Given the description of an element on the screen output the (x, y) to click on. 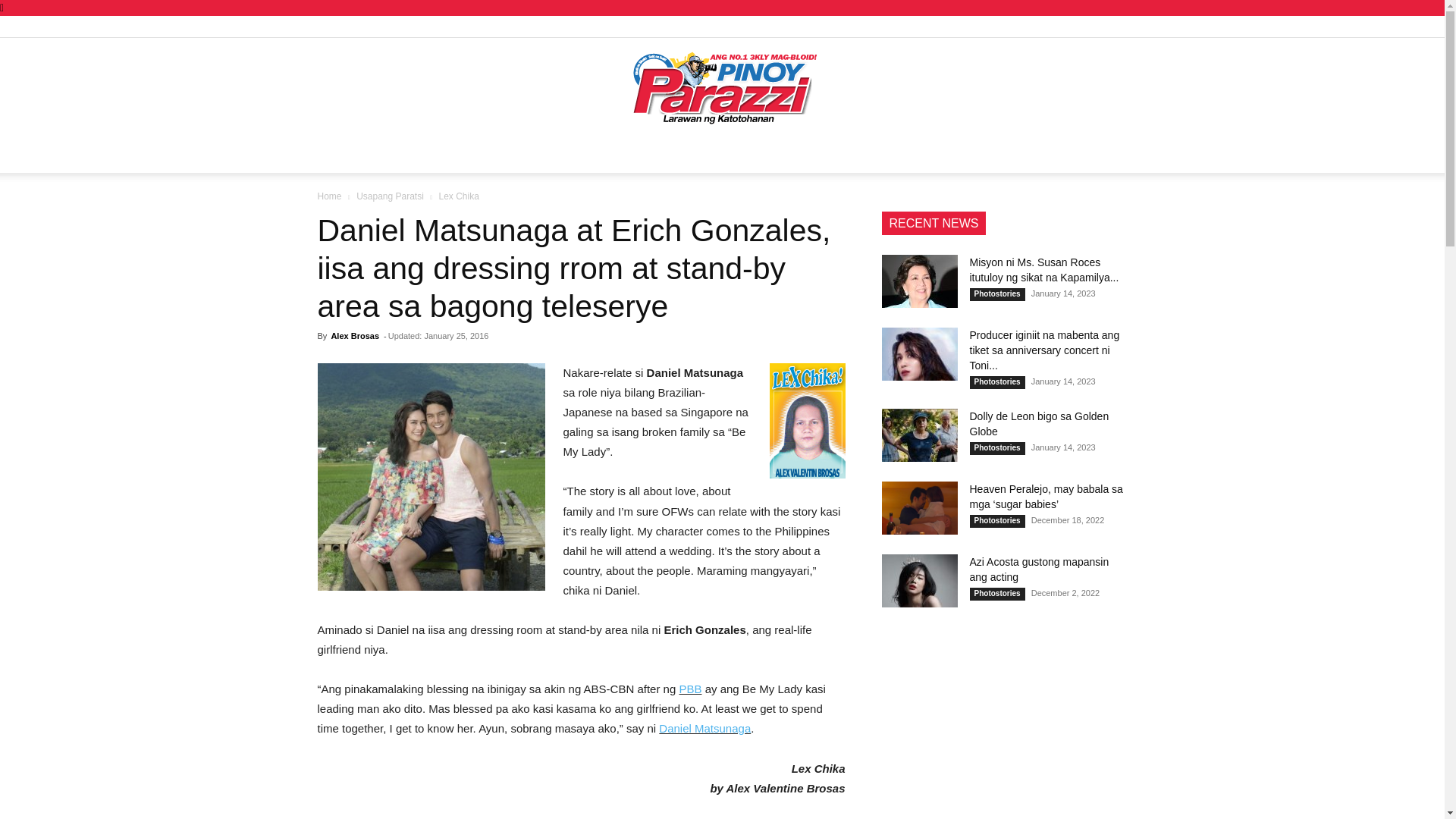
Facebook (989, 25)
Linkedin (1015, 25)
Alex Brosas (354, 335)
Pinoy Parazzi (722, 87)
Home (328, 195)
PBB (689, 688)
Usapang Paratsi (389, 195)
Tumblr (1065, 25)
PARAZZI VIDEOS (920, 154)
OPINION (754, 154)
Youtube (1114, 25)
Daniel Matsunaga (705, 727)
Twitter (1090, 25)
PARAZZI MADE (477, 154)
RSS (1040, 25)
